Given the description of an element on the screen output the (x, y) to click on. 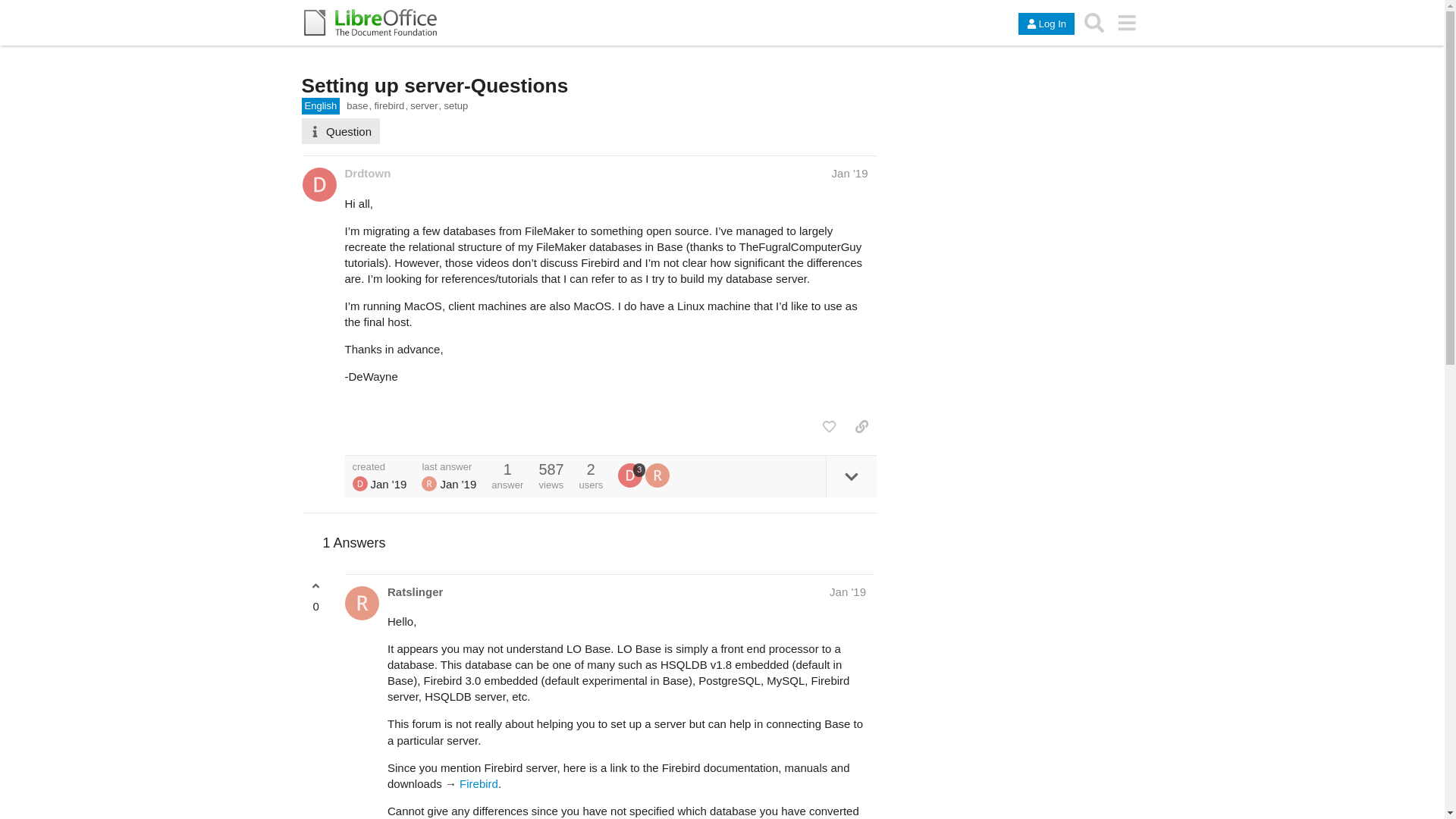
Jan 25, 2019 11:13 am (849, 173)
Jan 25, 2019 12:54 pm (847, 591)
Ratslinger (414, 591)
Search (1094, 22)
Ratslinger (657, 475)
Jan '19 (847, 591)
Ratslinger (429, 483)
Drdtown (366, 172)
English (320, 105)
